Given the description of an element on the screen output the (x, y) to click on. 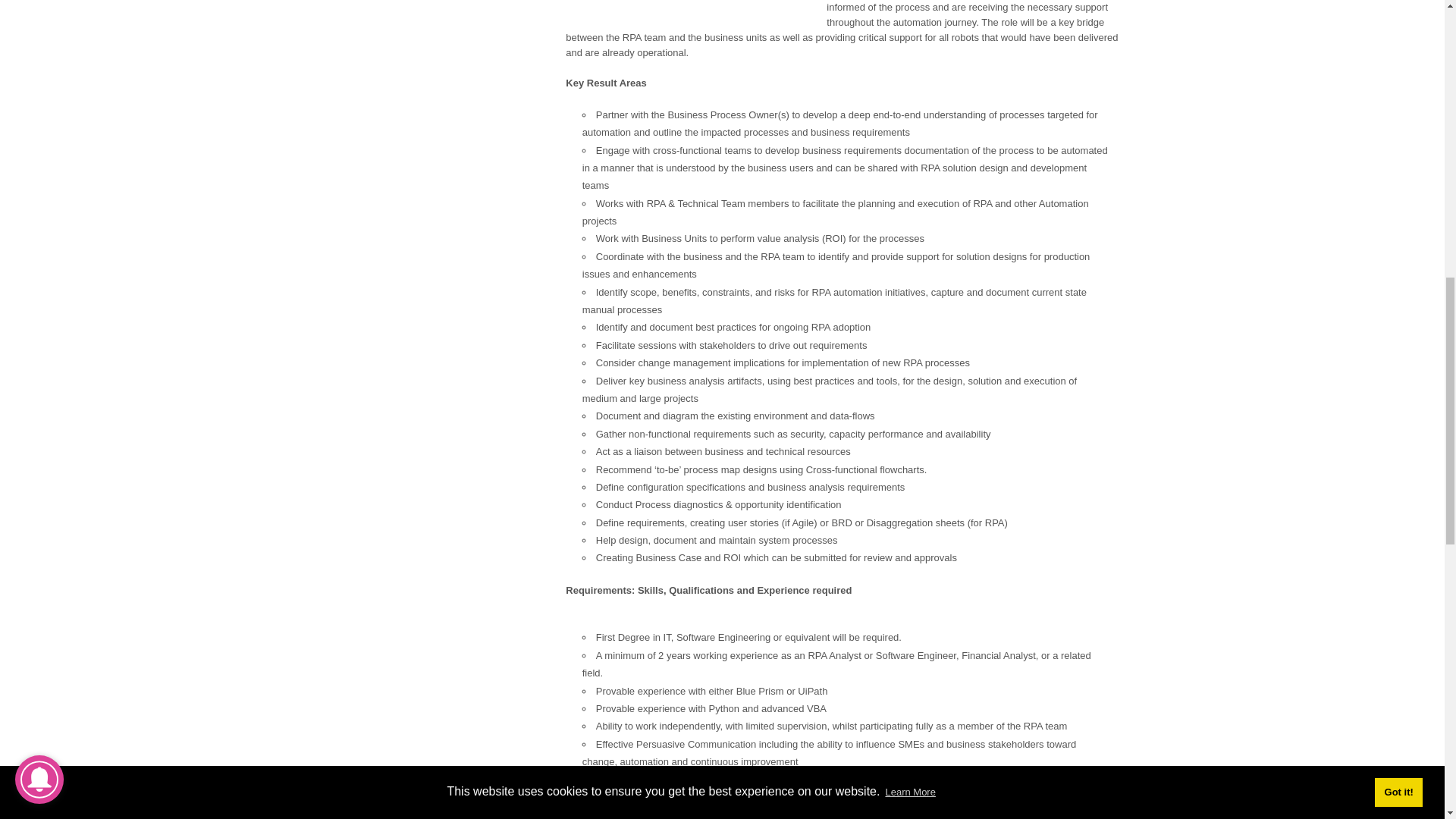
Advertisement (693, 10)
